Given the description of an element on the screen output the (x, y) to click on. 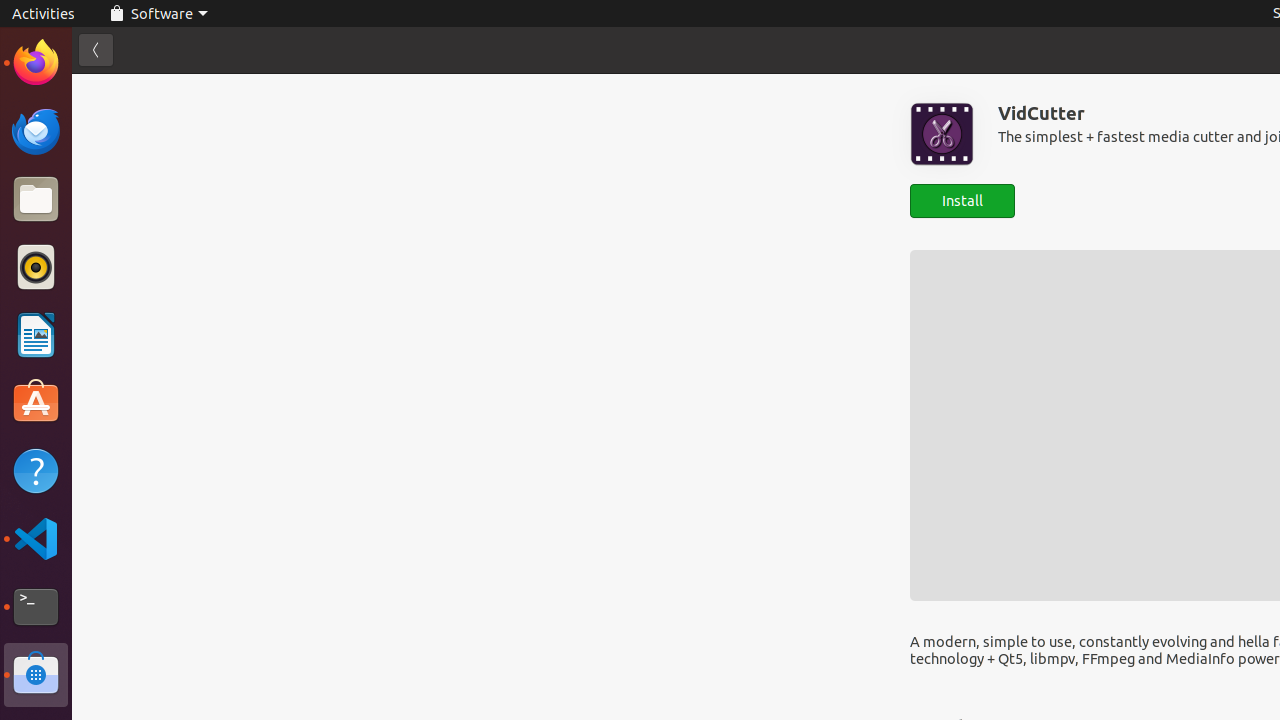
IsaHelpMain.desktop Element type: label (133, 300)
